Given the description of an element on the screen output the (x, y) to click on. 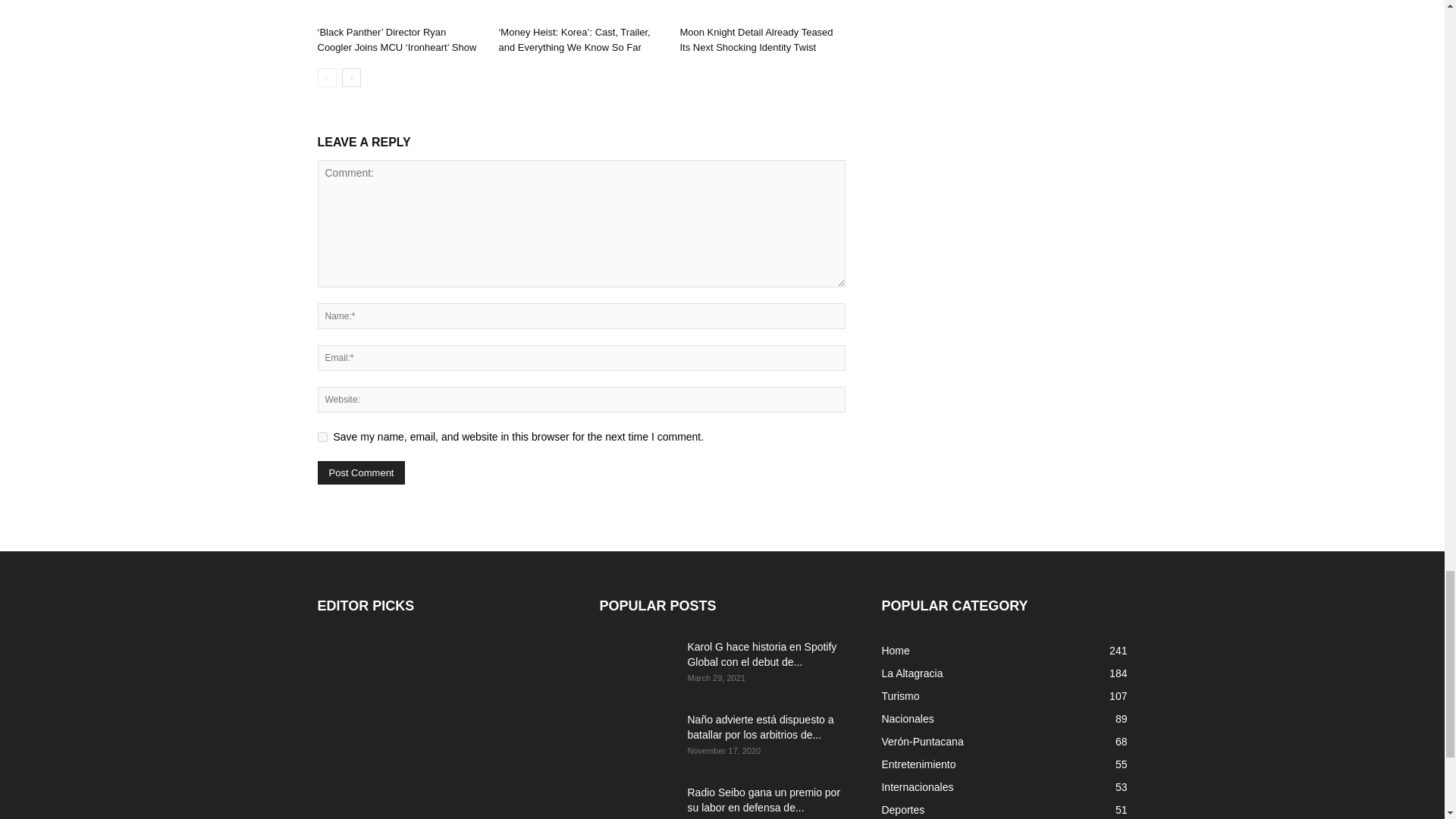
yes (321, 437)
Post Comment (360, 472)
